Given the description of an element on the screen output the (x, y) to click on. 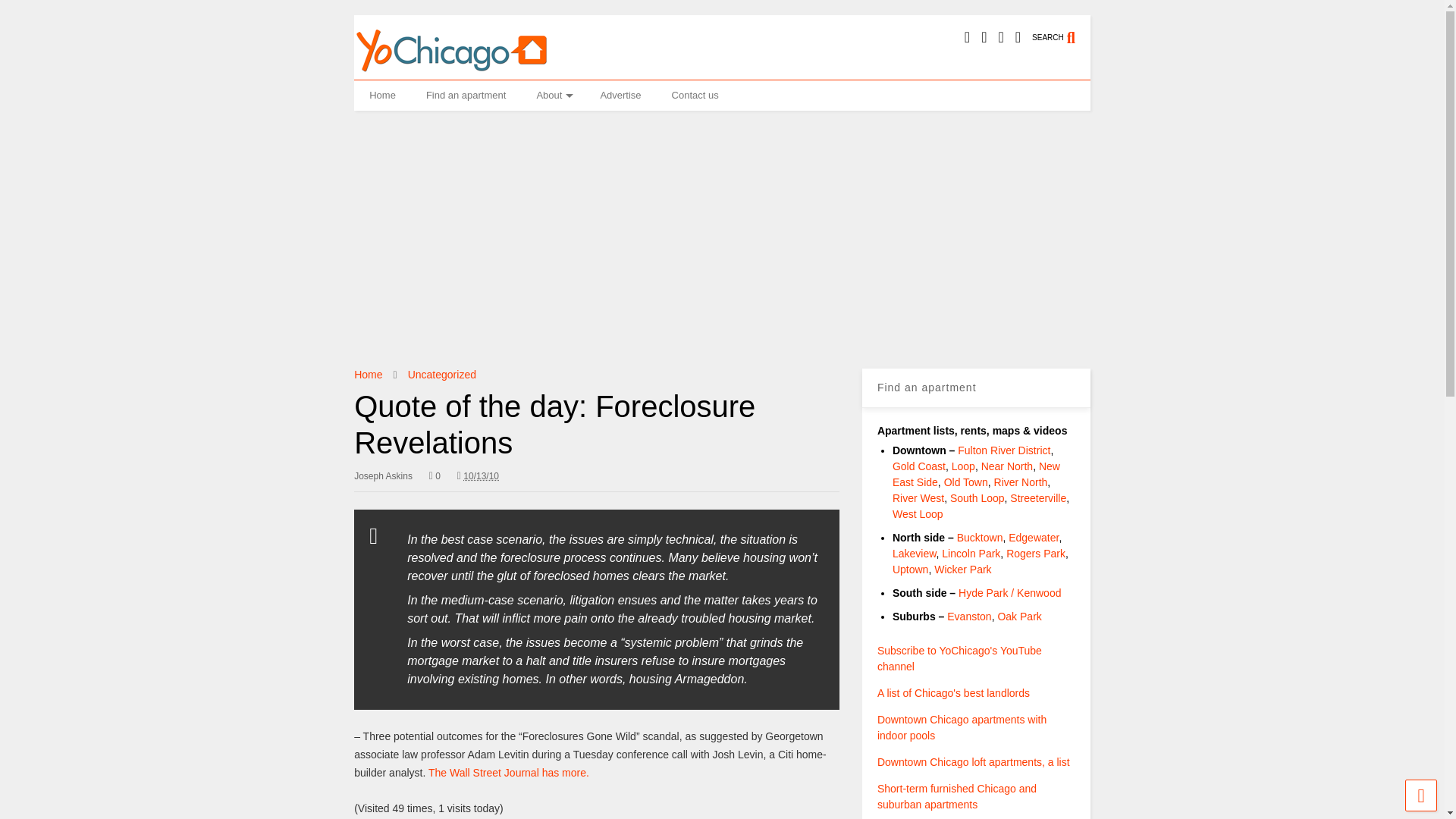
Joseph Askins (382, 476)
About (553, 95)
2010-10-13T08:30:18-05:00 (478, 476)
Joseph Askins (382, 476)
Contact us (694, 95)
SEARCH (1061, 30)
Home (381, 95)
Advertise (620, 95)
Uncategorized (441, 374)
Home (367, 374)
Find an apartment (465, 95)
The Wall Street Journal has more. (508, 772)
